Given the description of an element on the screen output the (x, y) to click on. 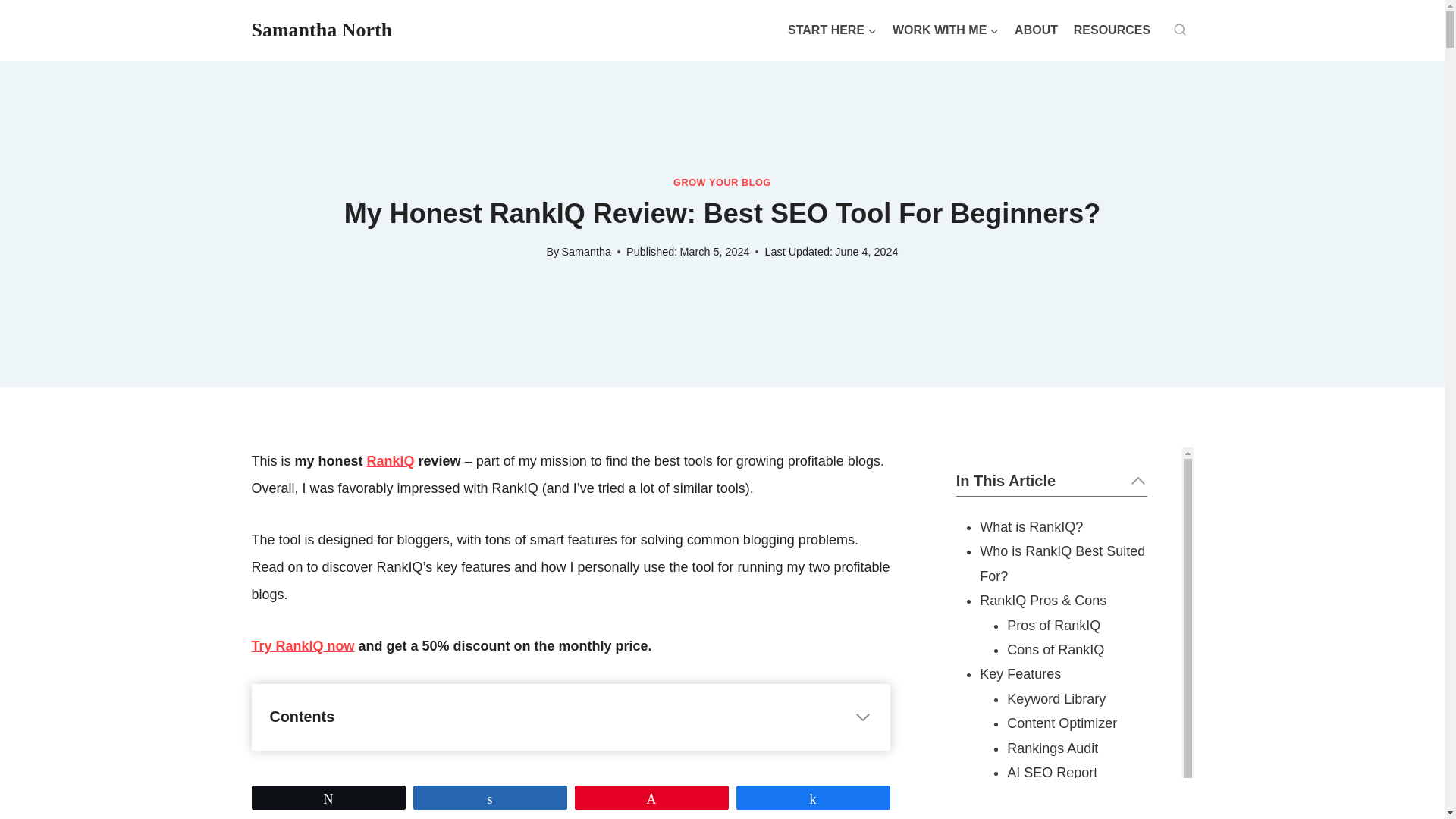
Samantha North (322, 29)
RESOURCES (1111, 30)
Samantha (585, 251)
WORK WITH ME (944, 30)
ABOUT (1036, 30)
RankIQ (390, 460)
RankIQ (303, 645)
START HERE (832, 30)
RankIQ (390, 460)
GROW YOUR BLOG (721, 182)
